Given the description of an element on the screen output the (x, y) to click on. 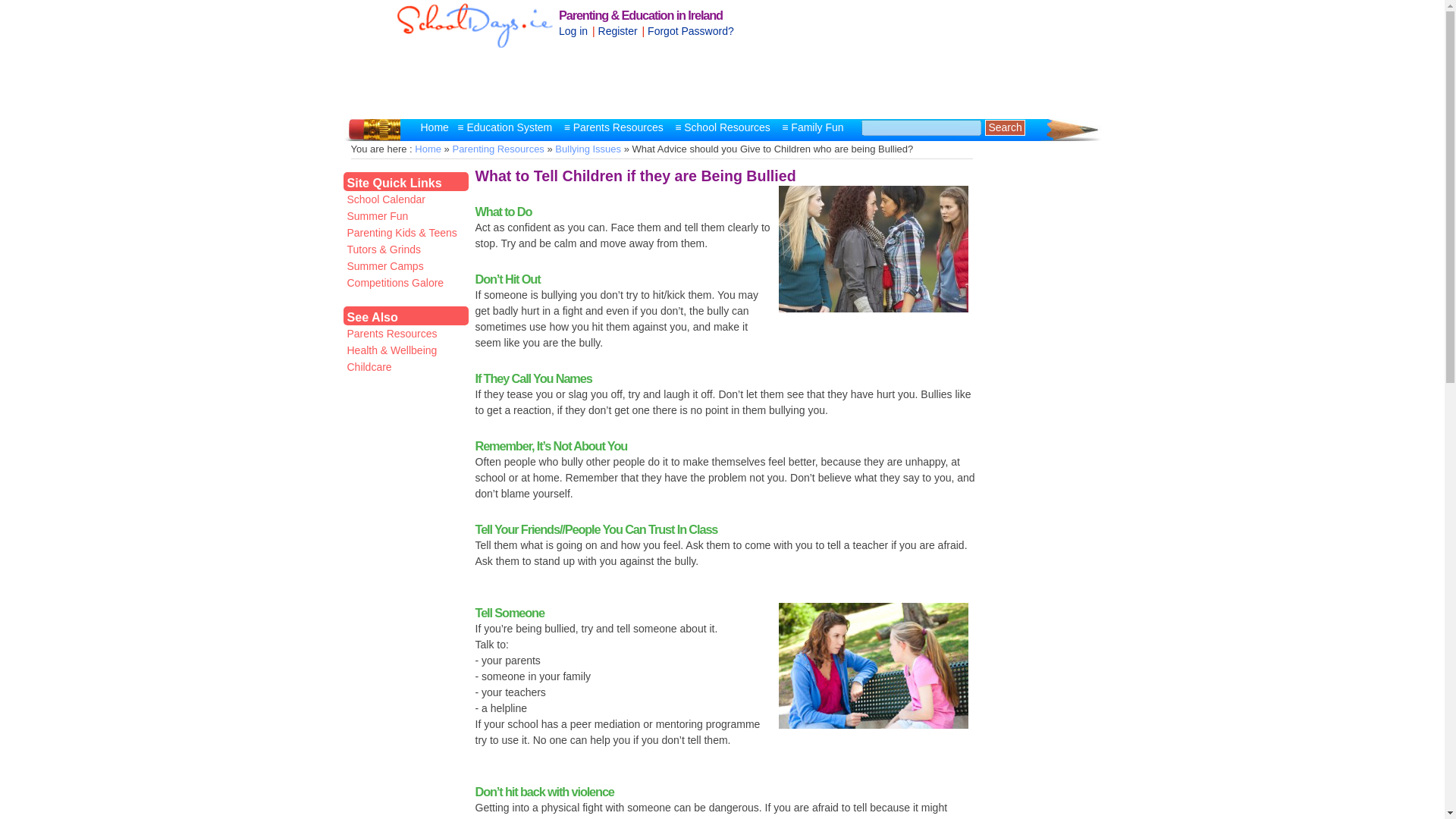
Register (618, 30)
Log in (574, 30)
Search (1005, 127)
Forgot Password? (691, 30)
Search (1005, 127)
